Given the description of an element on the screen output the (x, y) to click on. 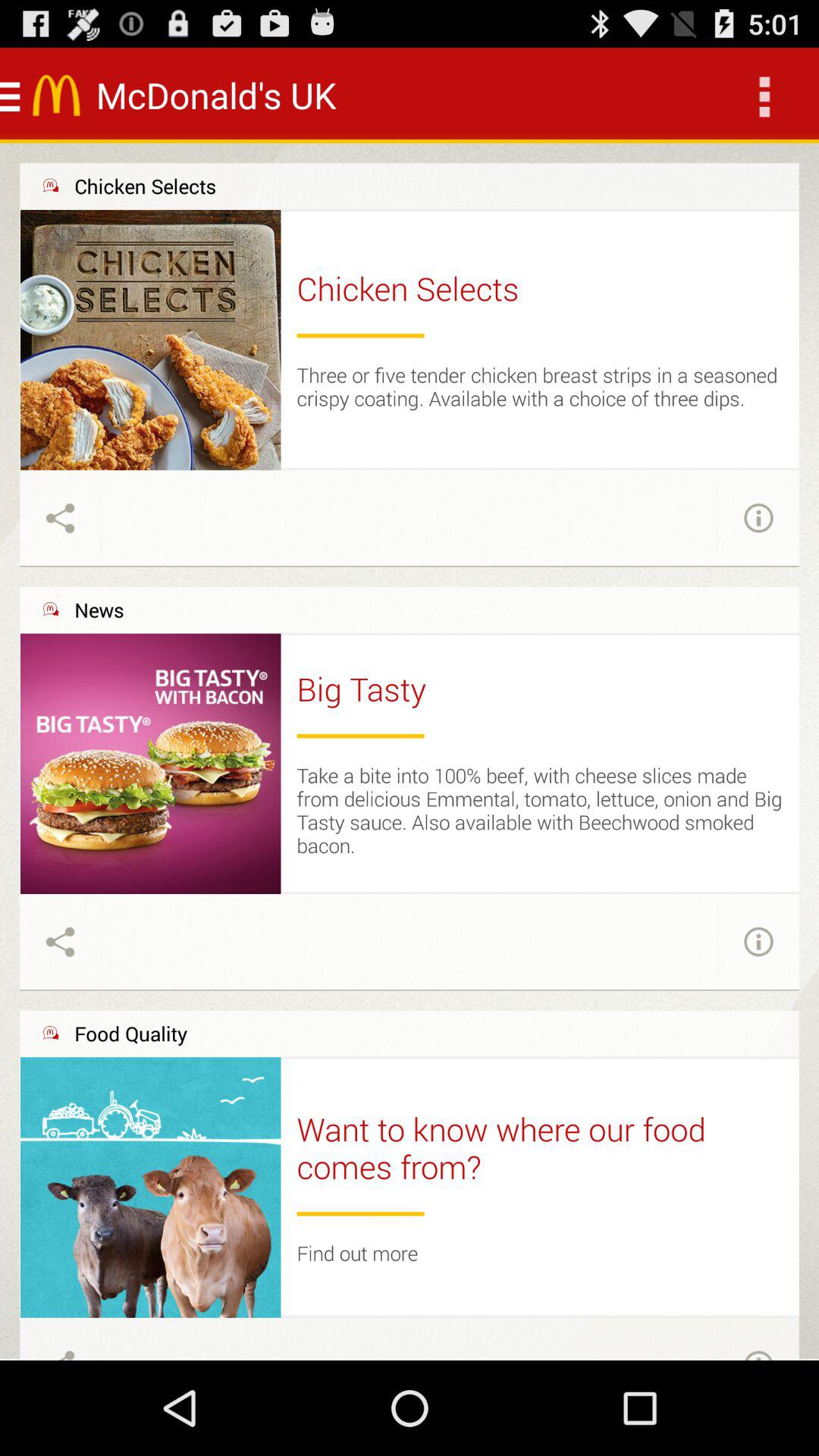
scroll until the take a bite icon (539, 810)
